Given the description of an element on the screen output the (x, y) to click on. 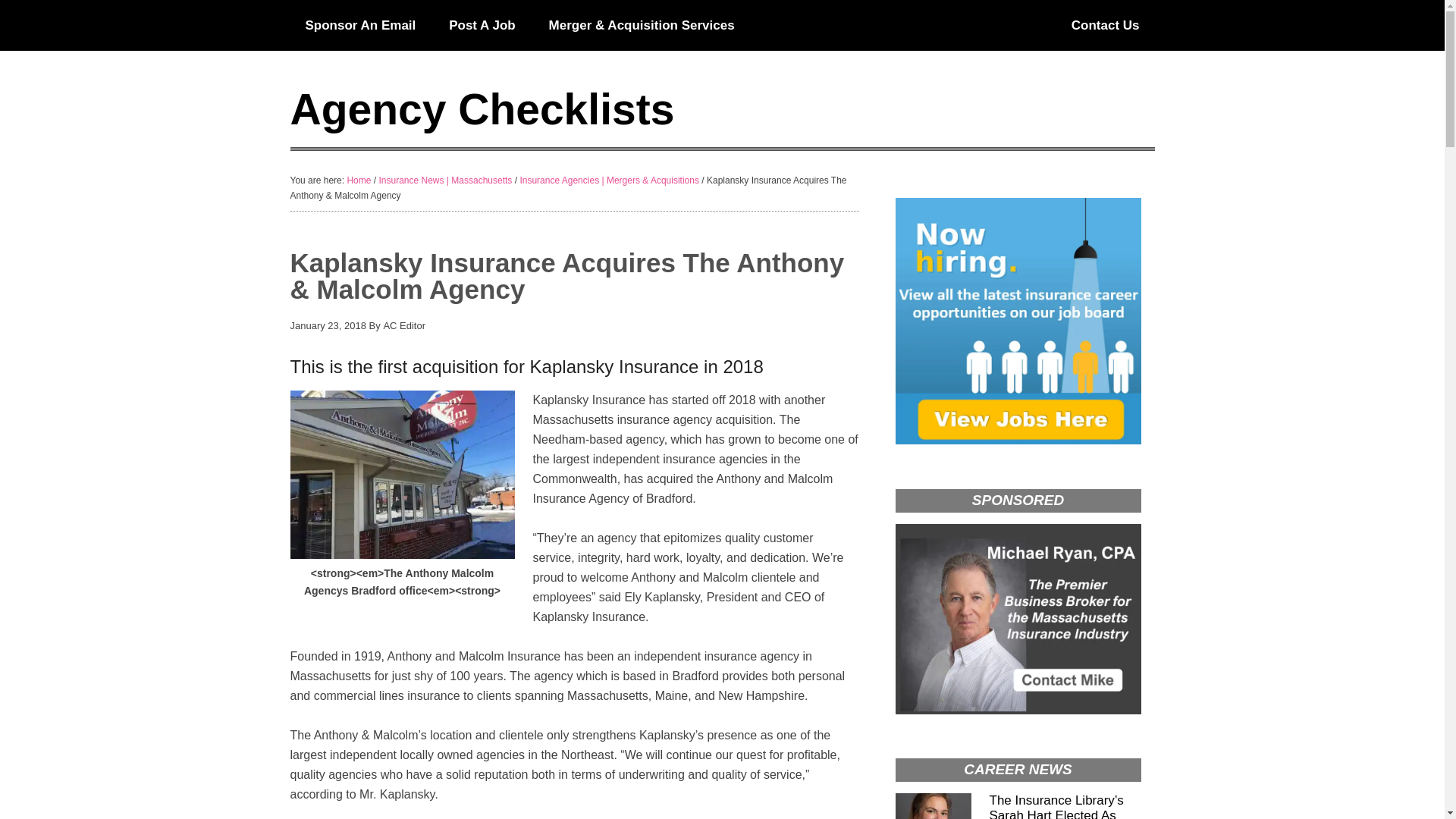
Agency Checklists (481, 109)
Contact Us (1105, 25)
Sponsor An Email (359, 25)
Home (358, 180)
Post A Job (482, 25)
AC Editor (403, 325)
Right (1105, 25)
